Given the description of an element on the screen output the (x, y) to click on. 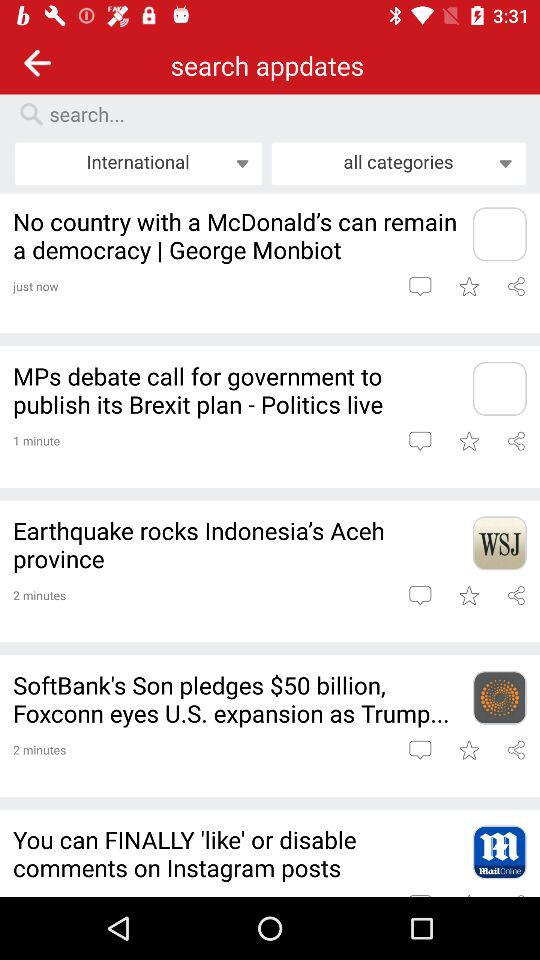
open article comments comment on the article (419, 749)
